Given the description of an element on the screen output the (x, y) to click on. 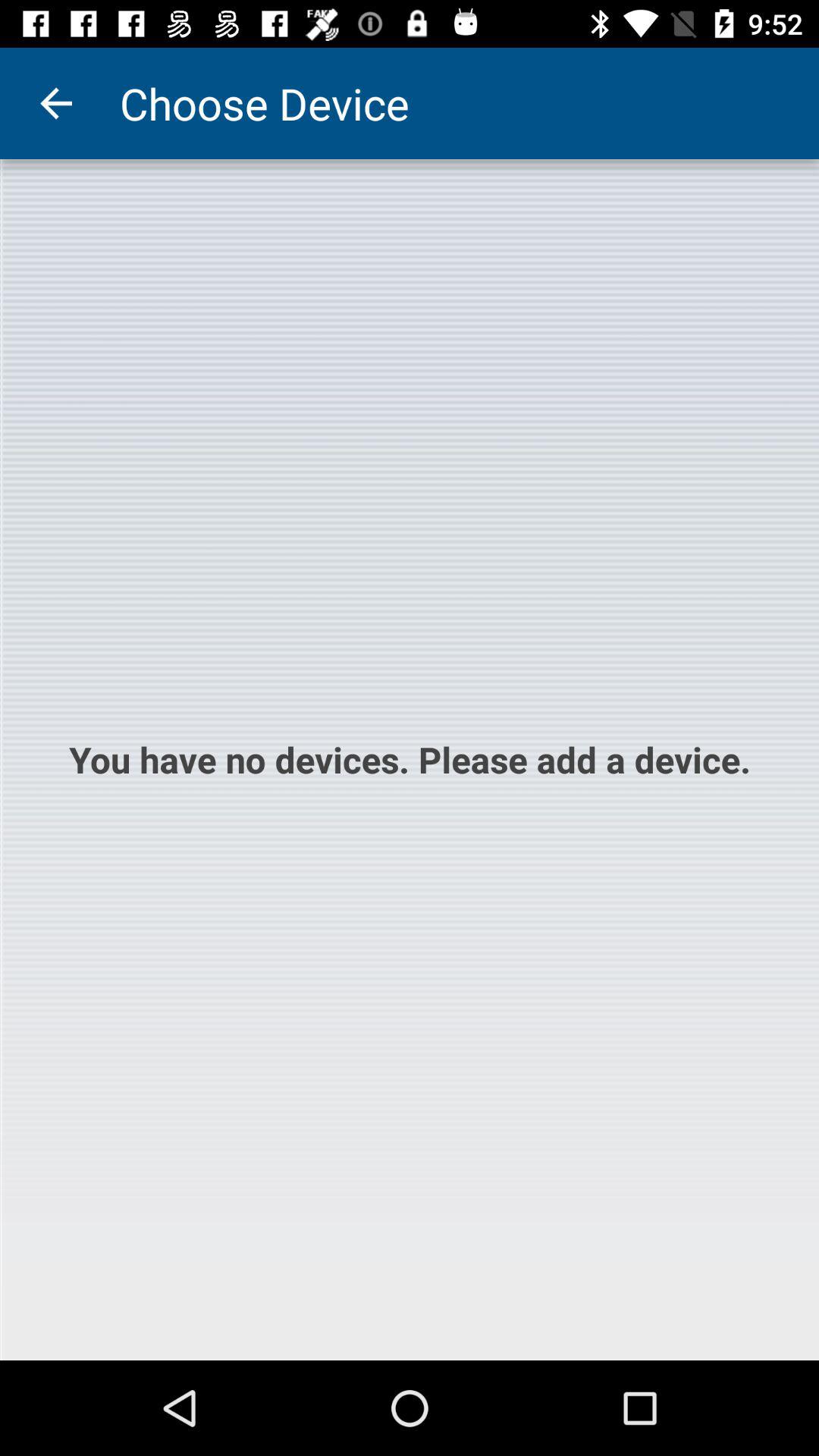
tap icon above the you have no icon (55, 103)
